Given the description of an element on the screen output the (x, y) to click on. 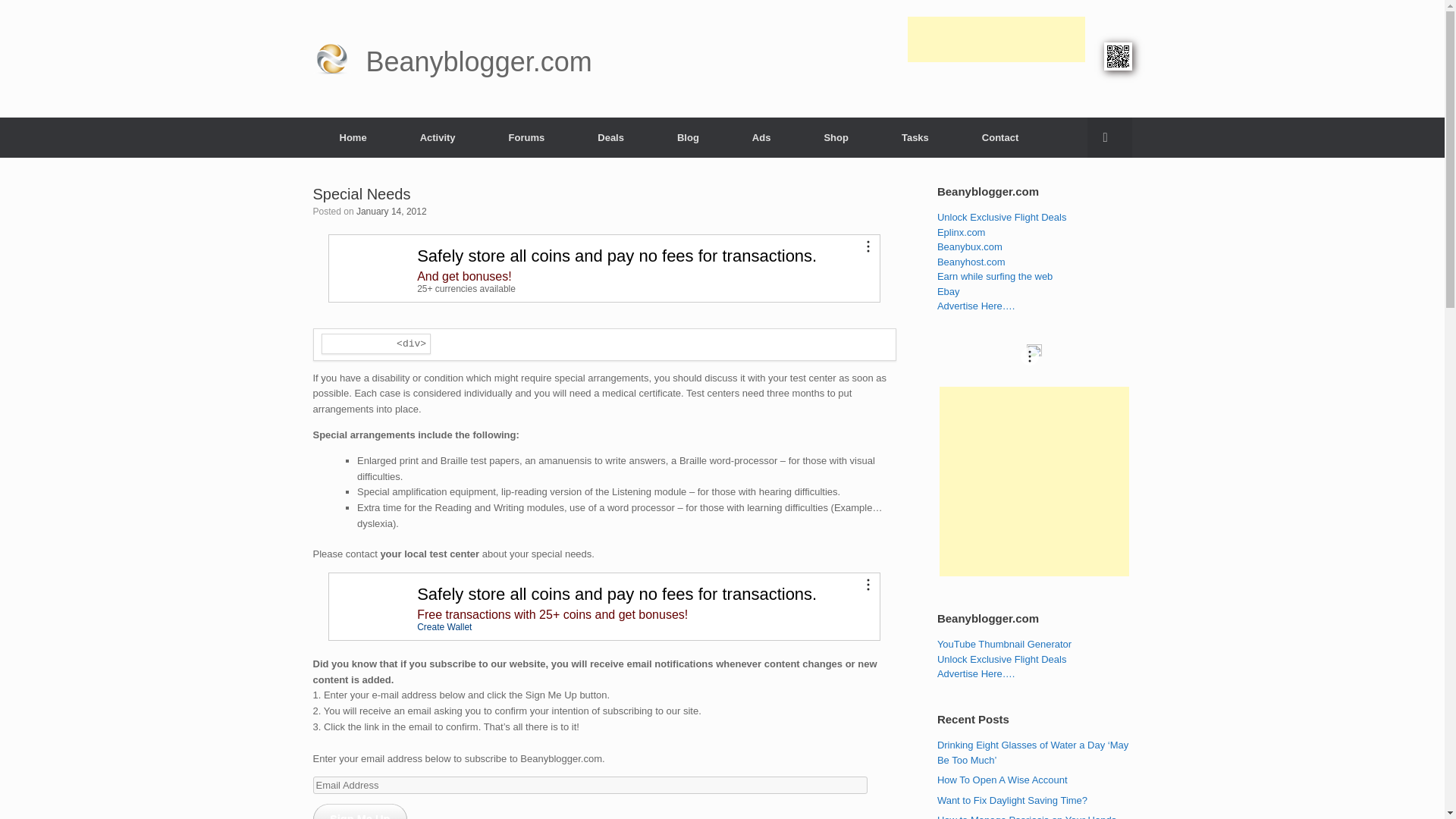
January 14, 2012 (391, 211)
Contact (1000, 137)
11:04 PM (391, 211)
Deals (610, 137)
Blog (687, 137)
Forums (526, 137)
Beanyblogger.com (452, 58)
Tasks (915, 137)
Sign Me Up (360, 811)
Activity (437, 137)
Home (353, 137)
Ads (761, 137)
Beanyblogger.com (452, 58)
Advertisement (995, 103)
Shop (835, 137)
